Given the description of an element on the screen output the (x, y) to click on. 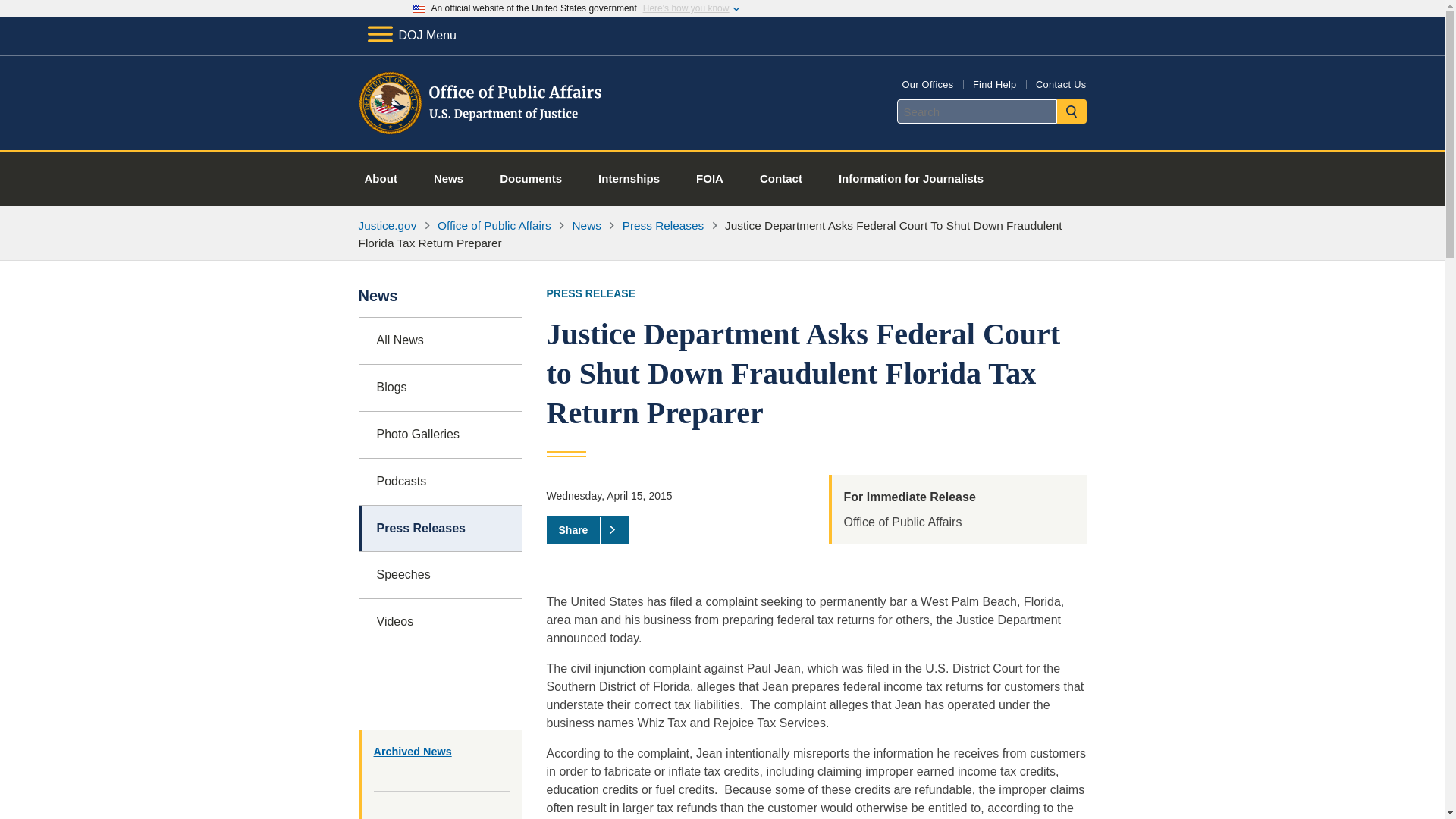
About (380, 179)
Documents (530, 179)
Here's how you know (686, 8)
News (586, 225)
Find Help (994, 84)
Podcasts (439, 481)
Blogs (439, 387)
Contact Us (1060, 84)
DOJ Menu (411, 35)
Office of Public Affairs (494, 225)
